Given the description of an element on the screen output the (x, y) to click on. 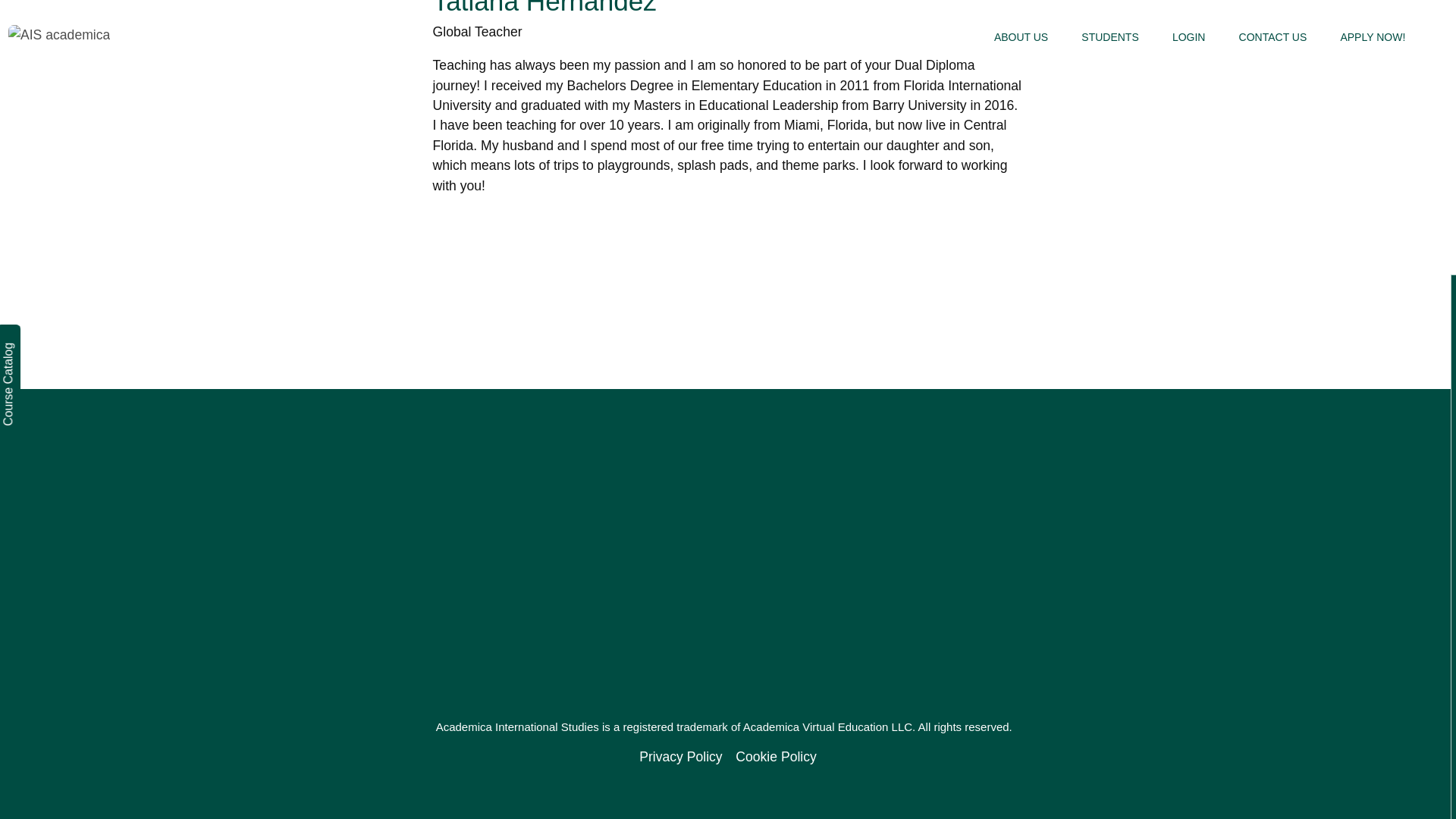
Privacy Policy  (680, 756)
Cookie Policy  (775, 756)
